Given the description of an element on the screen output the (x, y) to click on. 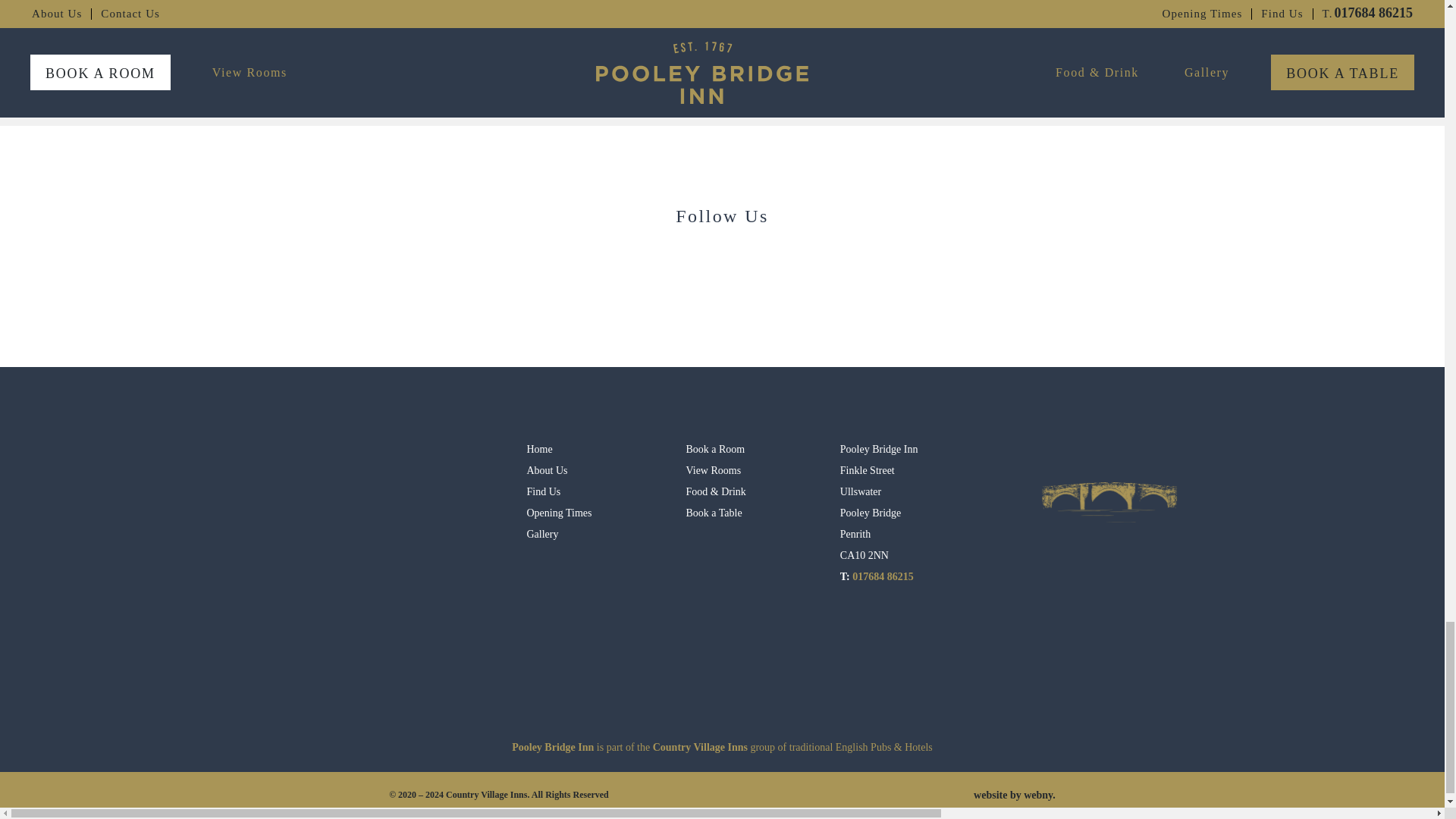
About Us (558, 470)
Find Us (558, 491)
Home (558, 449)
